Given the description of an element on the screen output the (x, y) to click on. 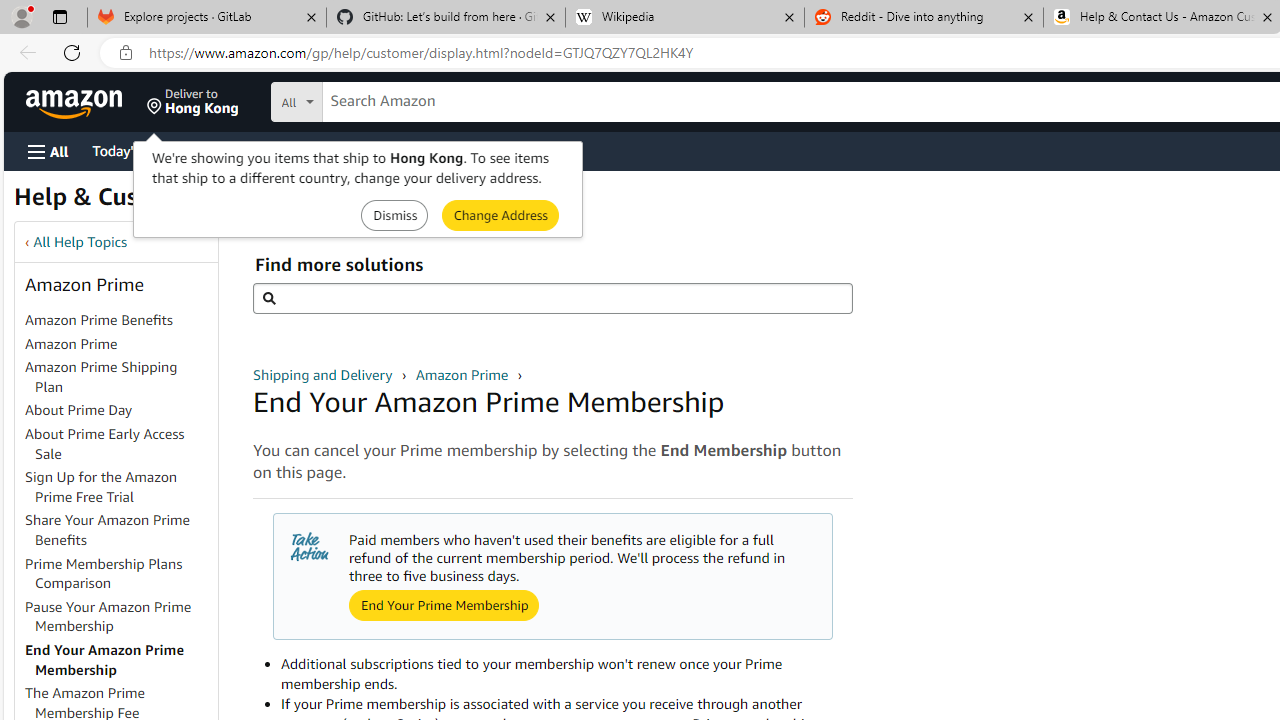
Prime Membership Plans Comparison (104, 573)
Sell (509, 150)
Prime Membership Plans Comparison (120, 573)
Amazon Prime  (463, 374)
Search in (371, 99)
Sign Up for the Amazon Prime Free Trial (101, 487)
Help & Customer Service (154, 201)
About Prime Day (120, 411)
Amazon (76, 101)
Reddit - Dive into anything (924, 17)
